Given the description of an element on the screen output the (x, y) to click on. 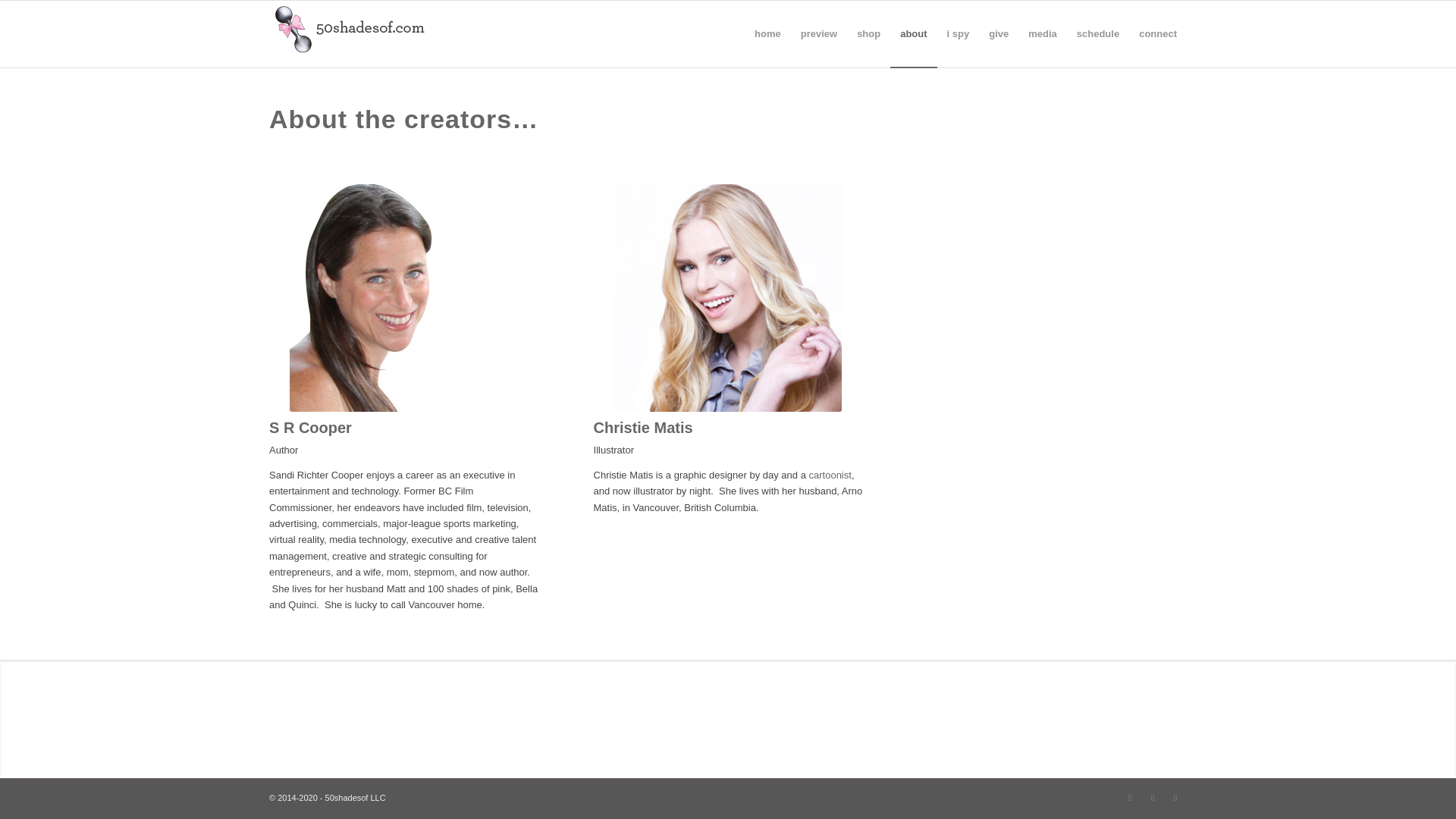
schedule (1098, 33)
shop (868, 33)
give (997, 33)
Twitter (1152, 797)
preview (818, 33)
Christie Anderson Matis (727, 297)
home (767, 33)
cartoonist (829, 474)
S R Cooper (402, 297)
media (1042, 33)
Instagram (1129, 797)
i spy (958, 33)
about (912, 33)
connect (1157, 33)
Facebook (1174, 797)
